Given the description of an element on the screen output the (x, y) to click on. 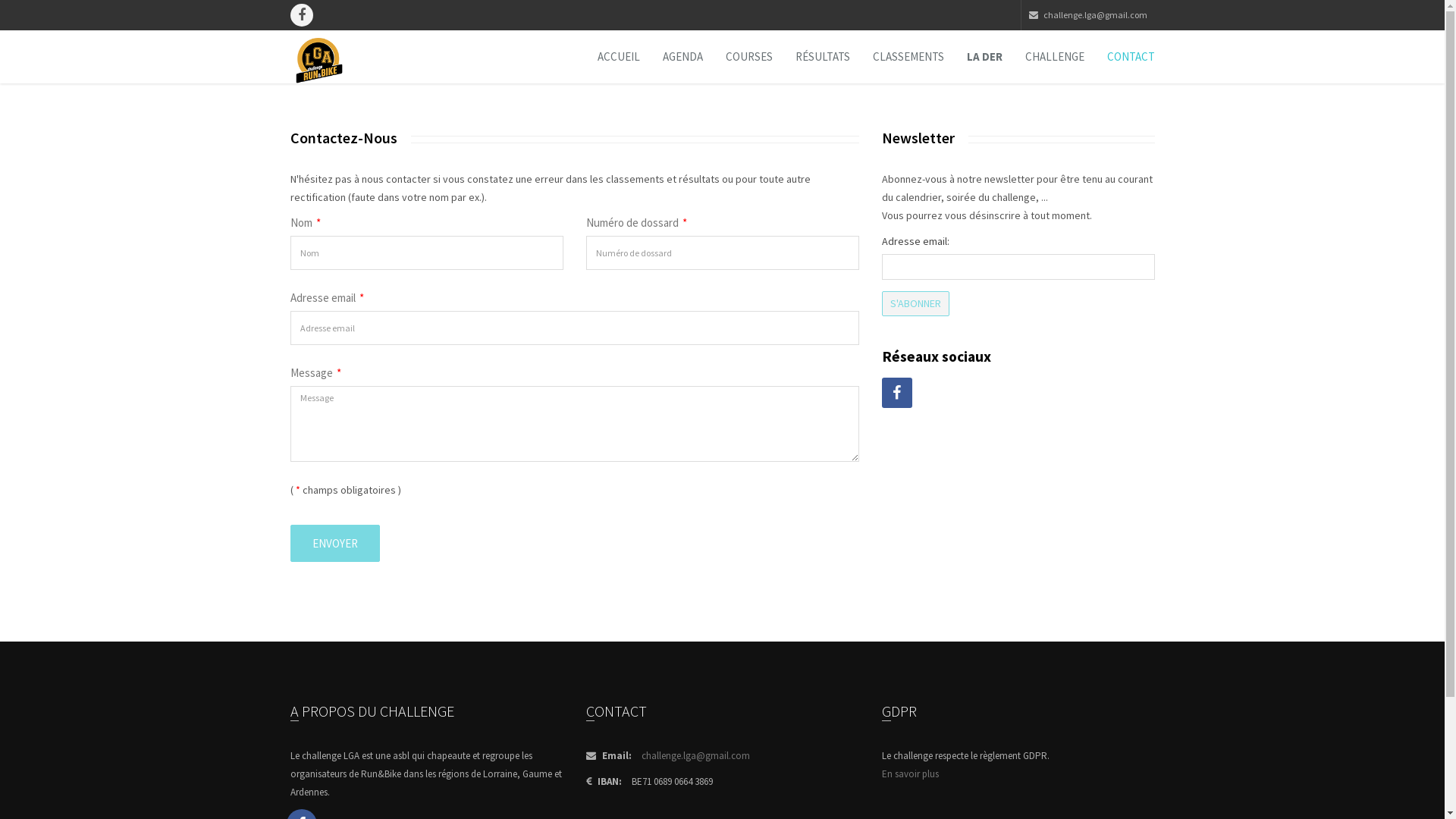
S'ABONNER Element type: text (914, 303)
CONTACT Element type: text (1130, 56)
challenge.lga@gmail.com Element type: text (695, 755)
LA DER Element type: text (984, 56)
ENVOYER Element type: text (334, 542)
AGENDA Element type: text (681, 56)
ACCUEIL Element type: text (617, 56)
En savoir plus Element type: text (909, 773)
COURSES Element type: text (749, 56)
CLASSEMENTS Element type: text (908, 56)
CHALLENGE Element type: text (1054, 56)
challenge.lga@gmail.com Element type: text (1095, 14)
